Given the description of an element on the screen output the (x, y) to click on. 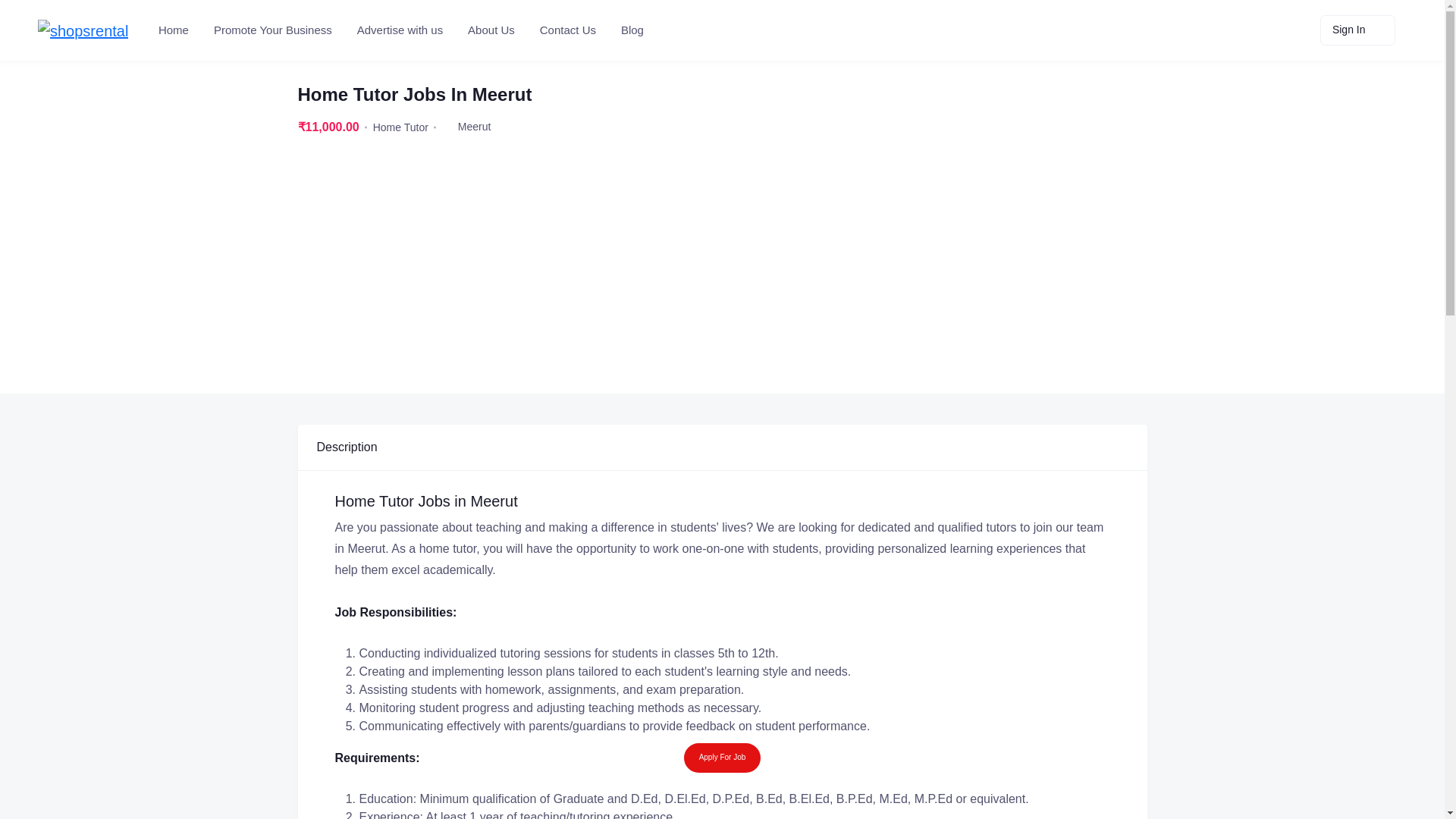
Contact Us (566, 30)
Advertise with us (398, 30)
Sign In (1357, 30)
Blog (630, 30)
Promote Your Business (271, 30)
Home Tutor (400, 127)
About Us (489, 30)
Home (172, 30)
Meerut (475, 126)
